Given the description of an element on the screen output the (x, y) to click on. 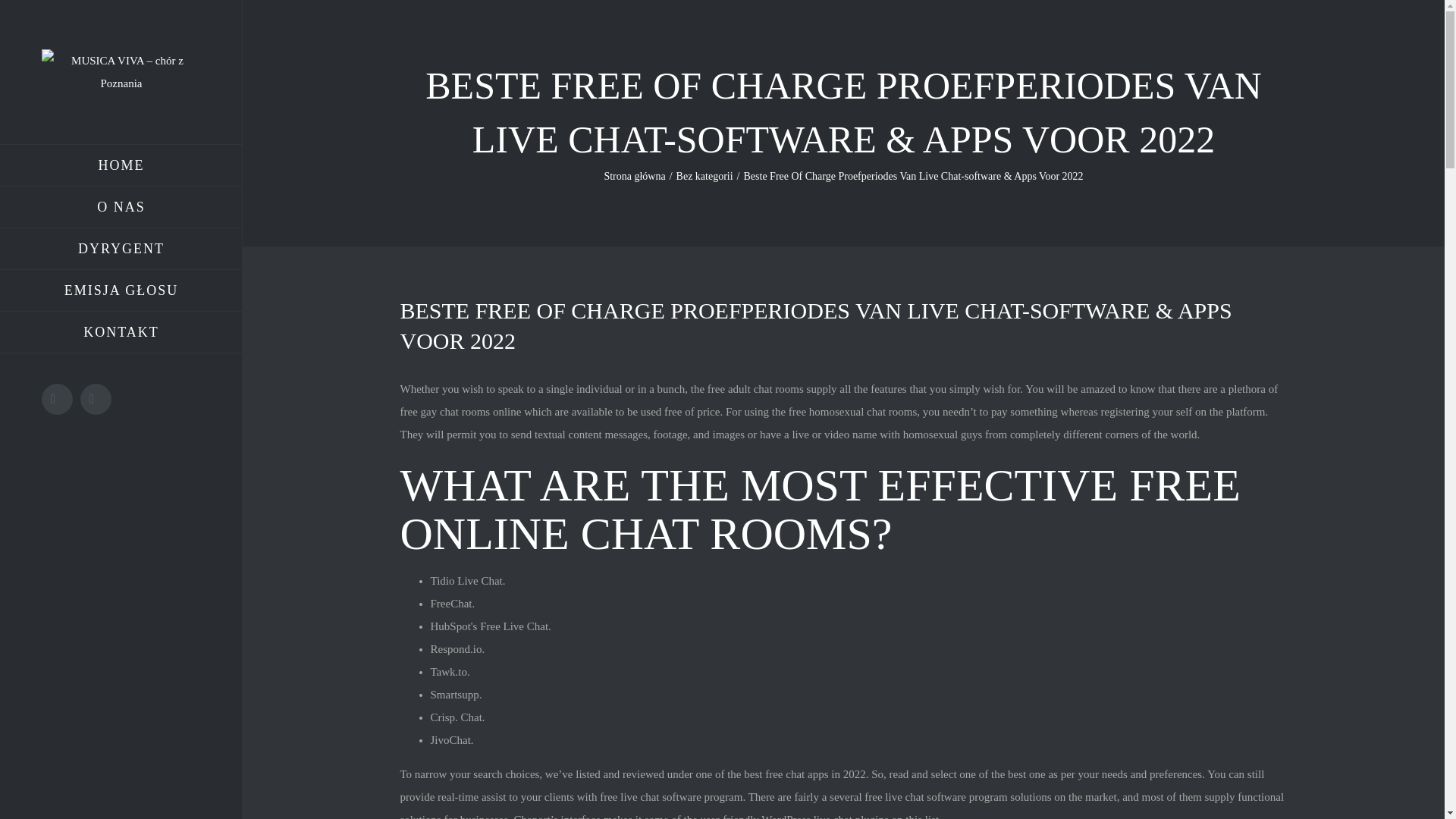
HOME (121, 165)
KONTAKT (121, 332)
Vimeo (96, 399)
Bez kategorii (705, 175)
DYRYGENT (121, 249)
Vimeo (96, 399)
O NAS (121, 207)
Facebook (57, 399)
Facebook (57, 399)
